Given the description of an element on the screen output the (x, y) to click on. 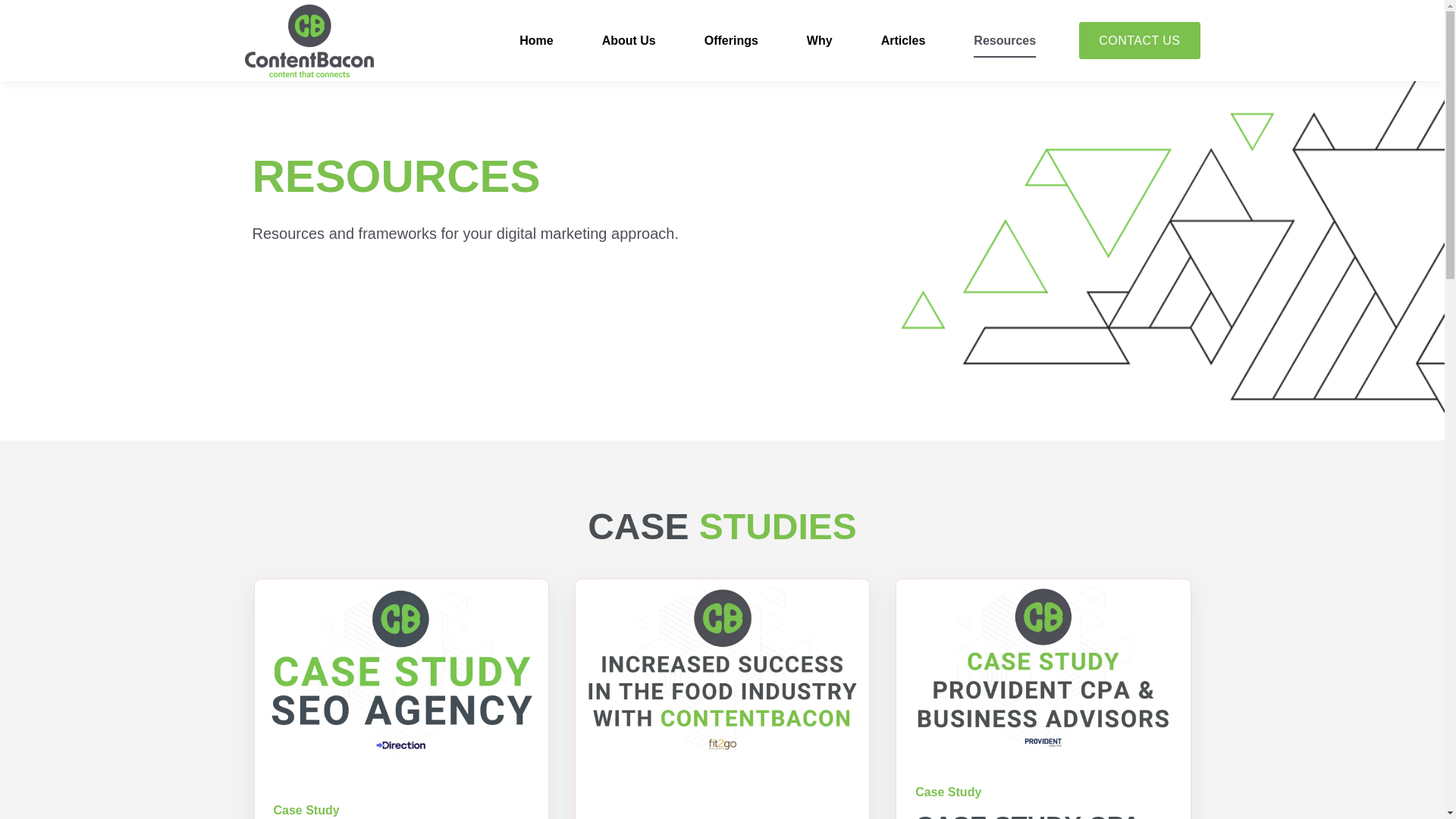
Articles (903, 40)
Offerings (731, 40)
Home (536, 40)
About Us (629, 40)
Resources (1004, 40)
CONTACT US (1138, 40)
